Given the description of an element on the screen output the (x, y) to click on. 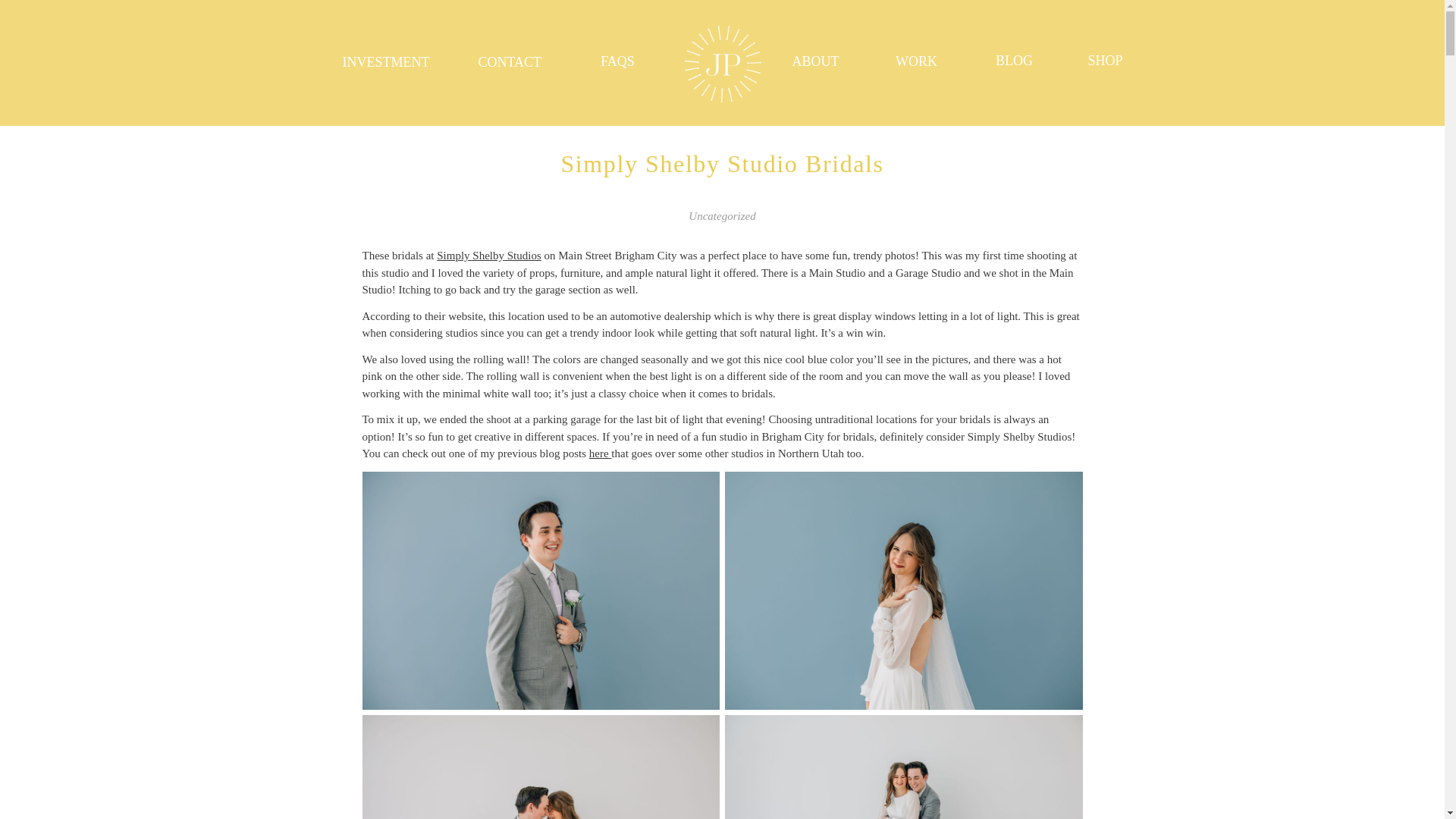
here (600, 453)
Uncategorized (721, 215)
WORK (916, 63)
FAQS (617, 62)
CONTACT (508, 63)
SHOP (1105, 61)
ABOUT (812, 62)
Simply Shelby Studios (488, 255)
INVESTMENT (386, 64)
BLOG (1014, 63)
